Given the description of an element on the screen output the (x, y) to click on. 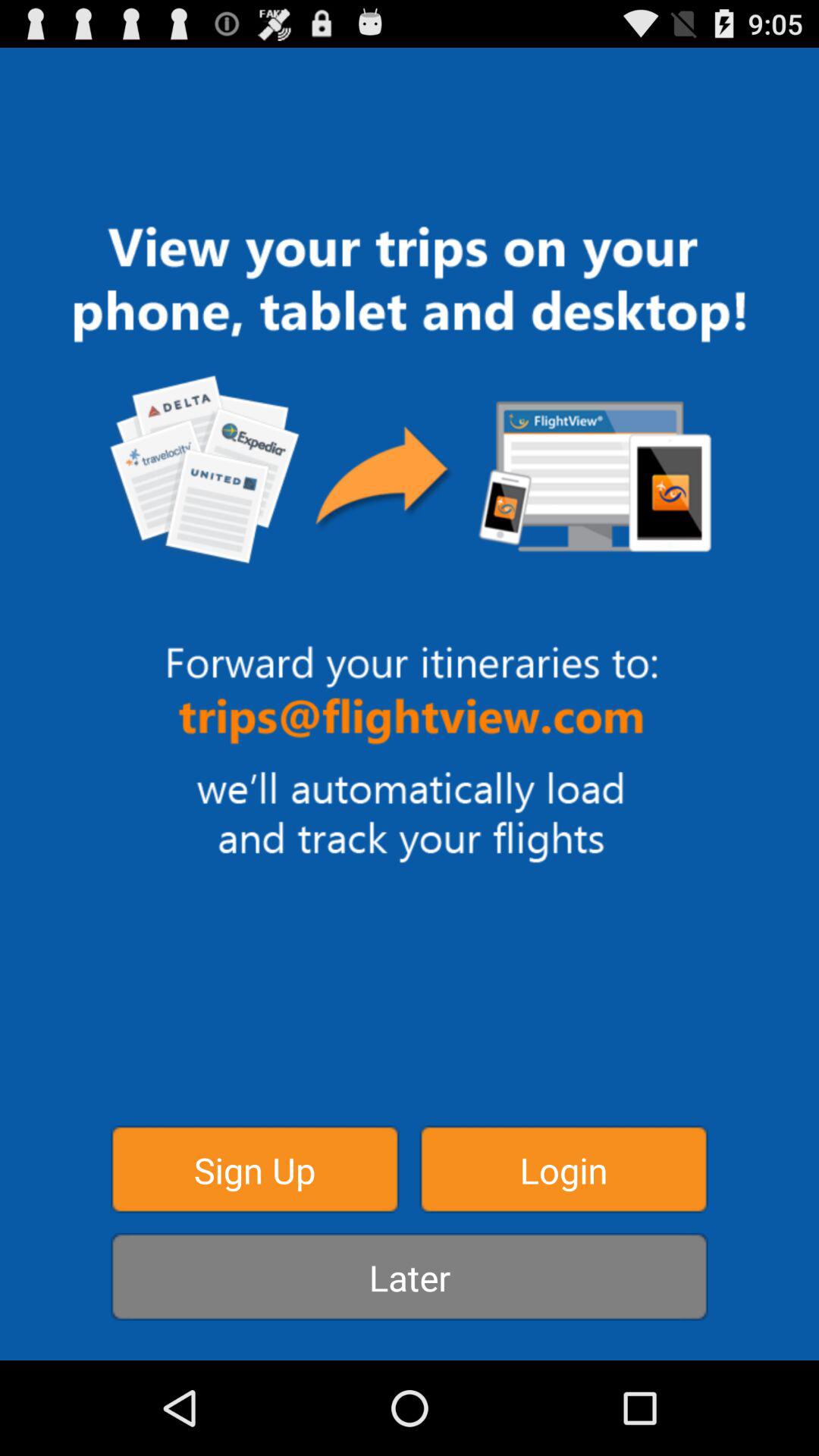
select item above the later item (254, 1169)
